Given the description of an element on the screen output the (x, y) to click on. 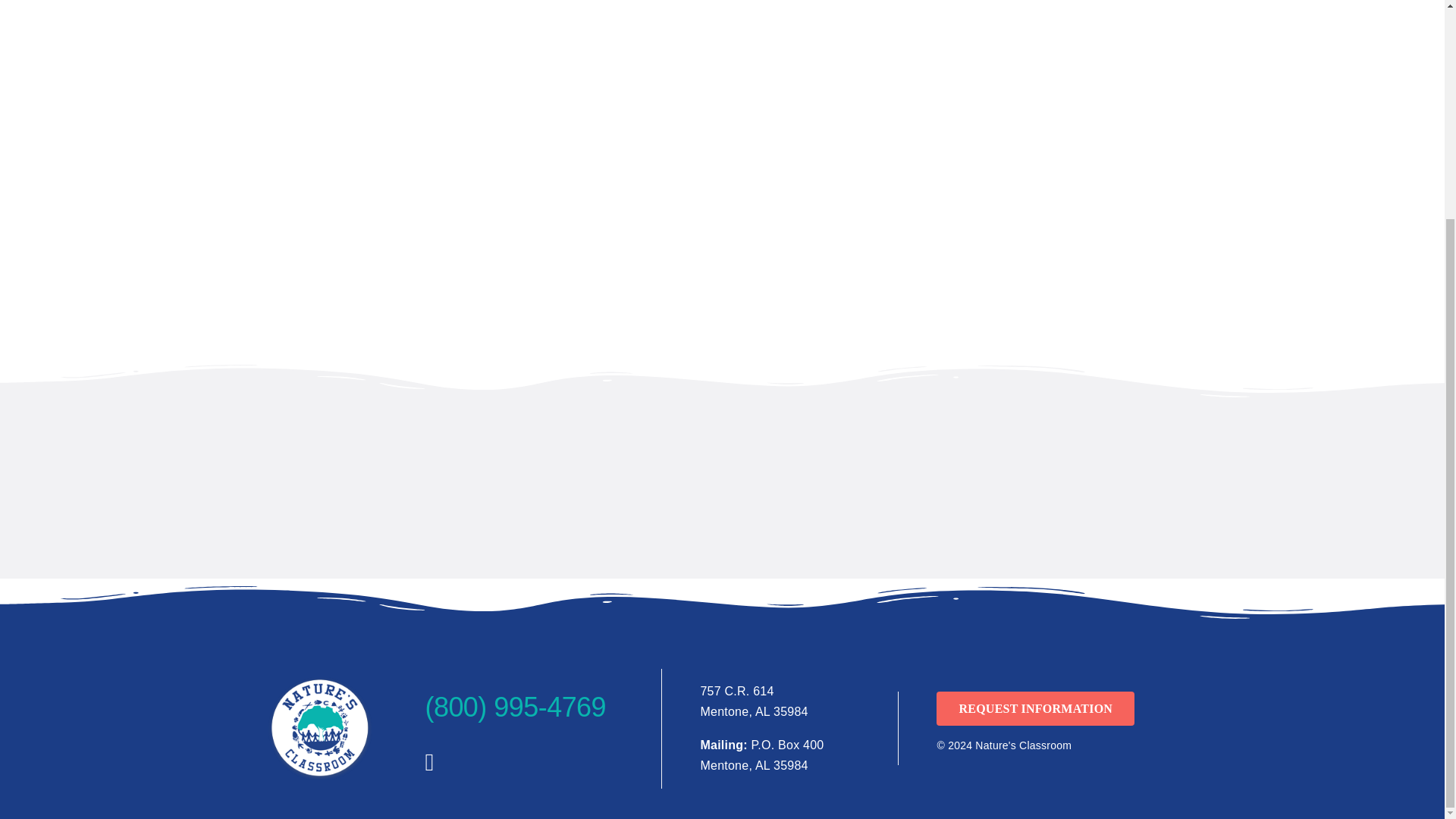
REQUEST INFORMATION (1035, 708)
